Given the description of an element on the screen output the (x, y) to click on. 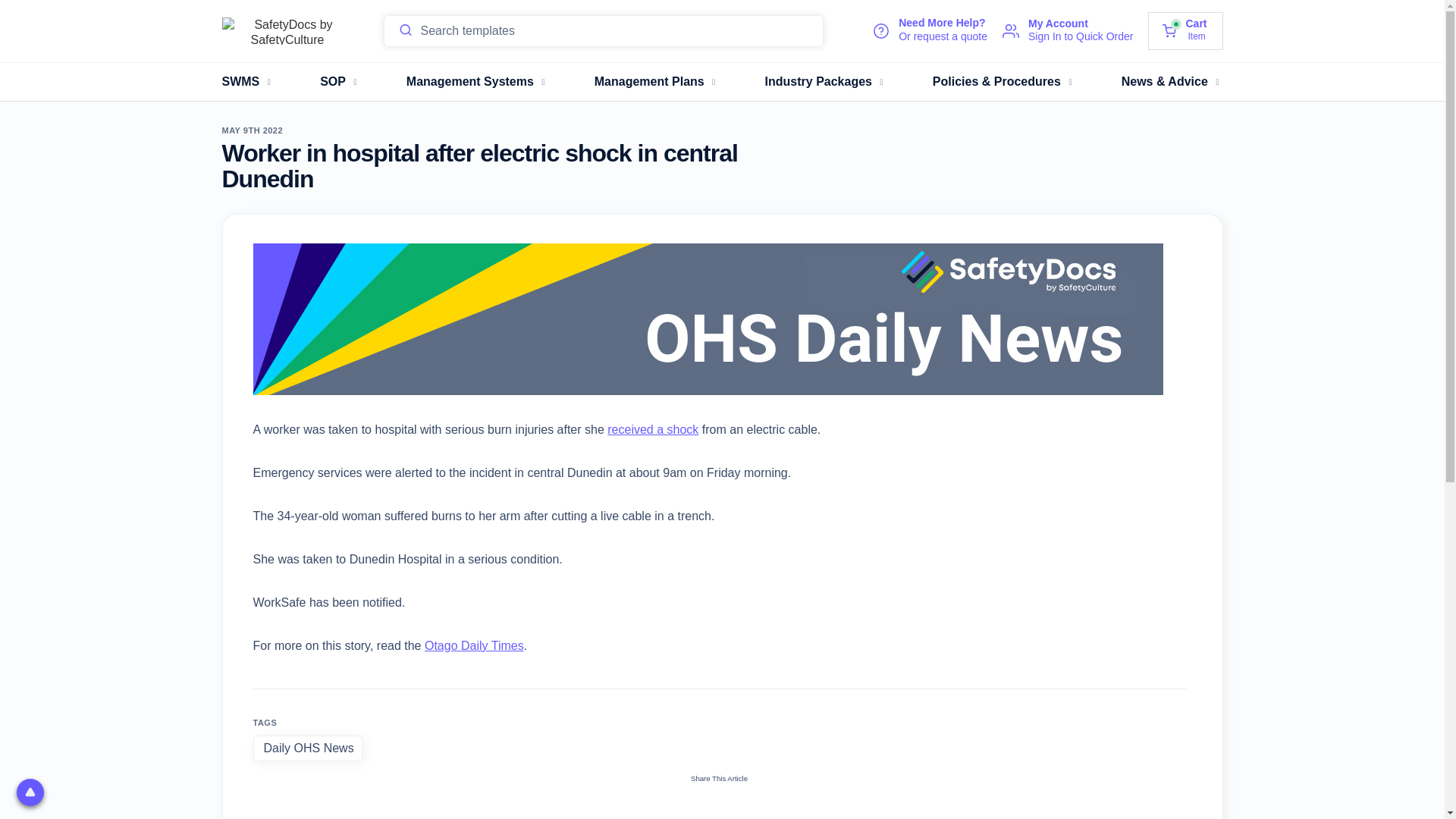
SWMS (1185, 30)
SafetyDocs by SafetyCulture (247, 81)
